Given the description of an element on the screen output the (x, y) to click on. 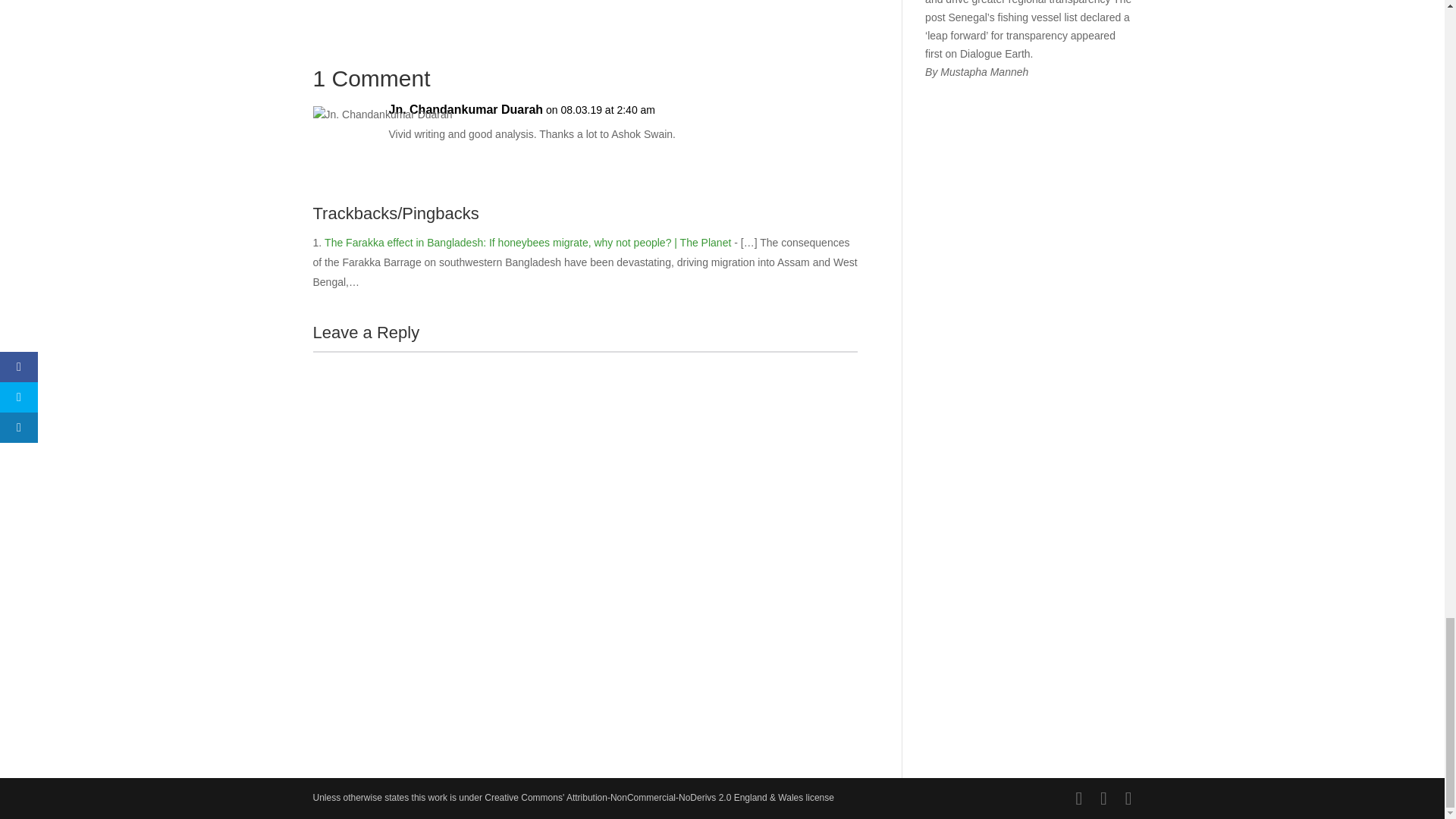
Jn. Chandankumar Duarah (465, 109)
